Given the description of an element on the screen output the (x, y) to click on. 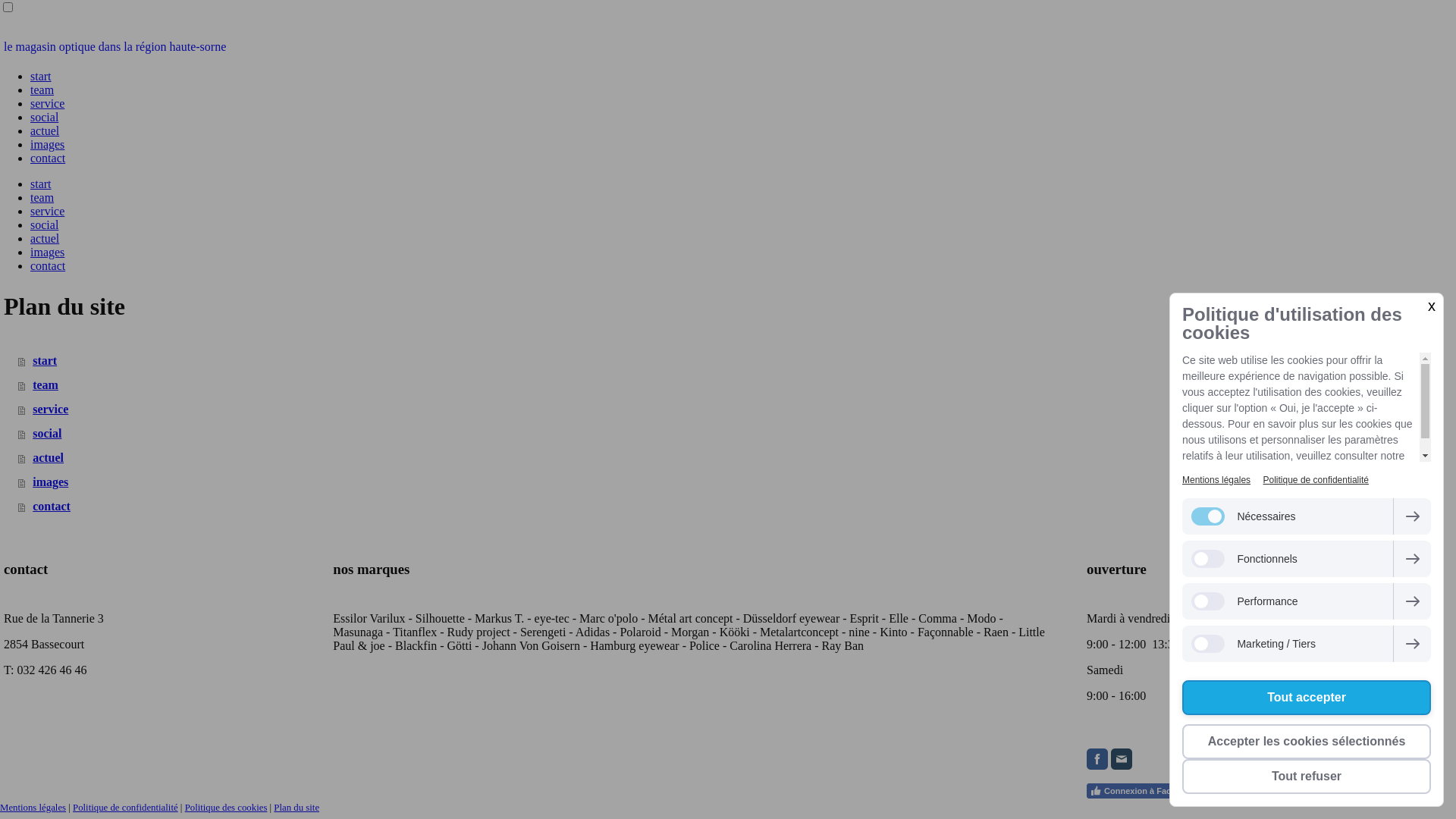
Tout refuser Element type: text (1306, 776)
service Element type: text (47, 210)
contact Element type: text (47, 265)
Tout accepter Element type: text (1306, 697)
service Element type: text (47, 103)
Plan du site Element type: text (296, 807)
Facebook Element type: hover (1096, 758)
actuel Element type: text (44, 130)
start Element type: text (40, 75)
actuel Element type: text (44, 238)
images Element type: text (47, 251)
images Element type: text (47, 144)
E-mail Element type: hover (1121, 758)
contact Element type: text (47, 157)
start Element type: text (40, 183)
social Element type: text (44, 224)
social Element type: text (44, 116)
Politique des cookies Element type: text (226, 807)
team Element type: text (41, 89)
team Element type: text (41, 197)
